Given the description of an element on the screen output the (x, y) to click on. 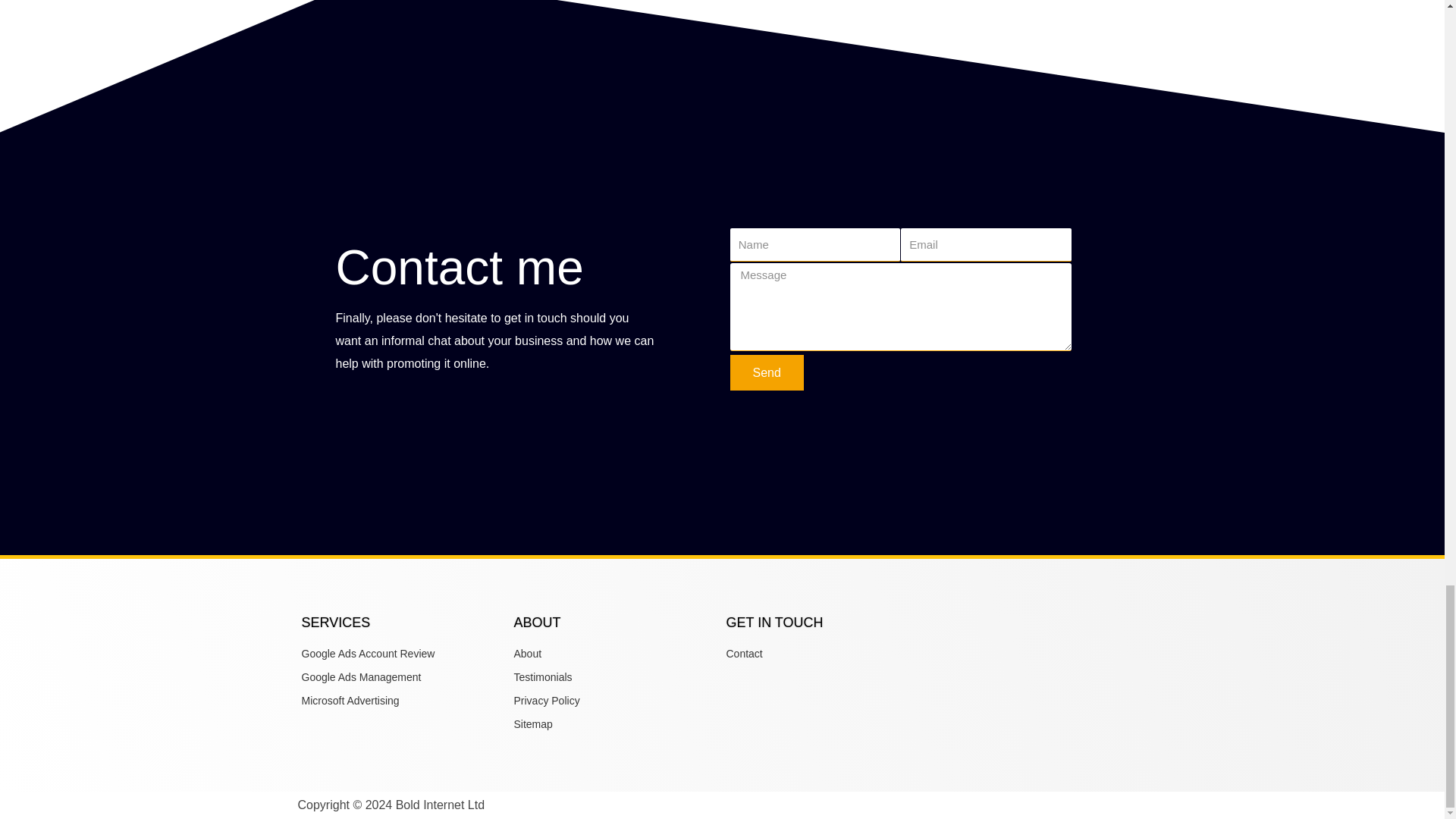
Privacy Policy (616, 701)
About (616, 654)
Microsoft Advertising (403, 701)
Google Ads Management (403, 677)
Google Ads Account Review (403, 654)
Testimonials (616, 677)
Contact (828, 654)
Send (766, 372)
Sitemap (616, 724)
